Given the description of an element on the screen output the (x, y) to click on. 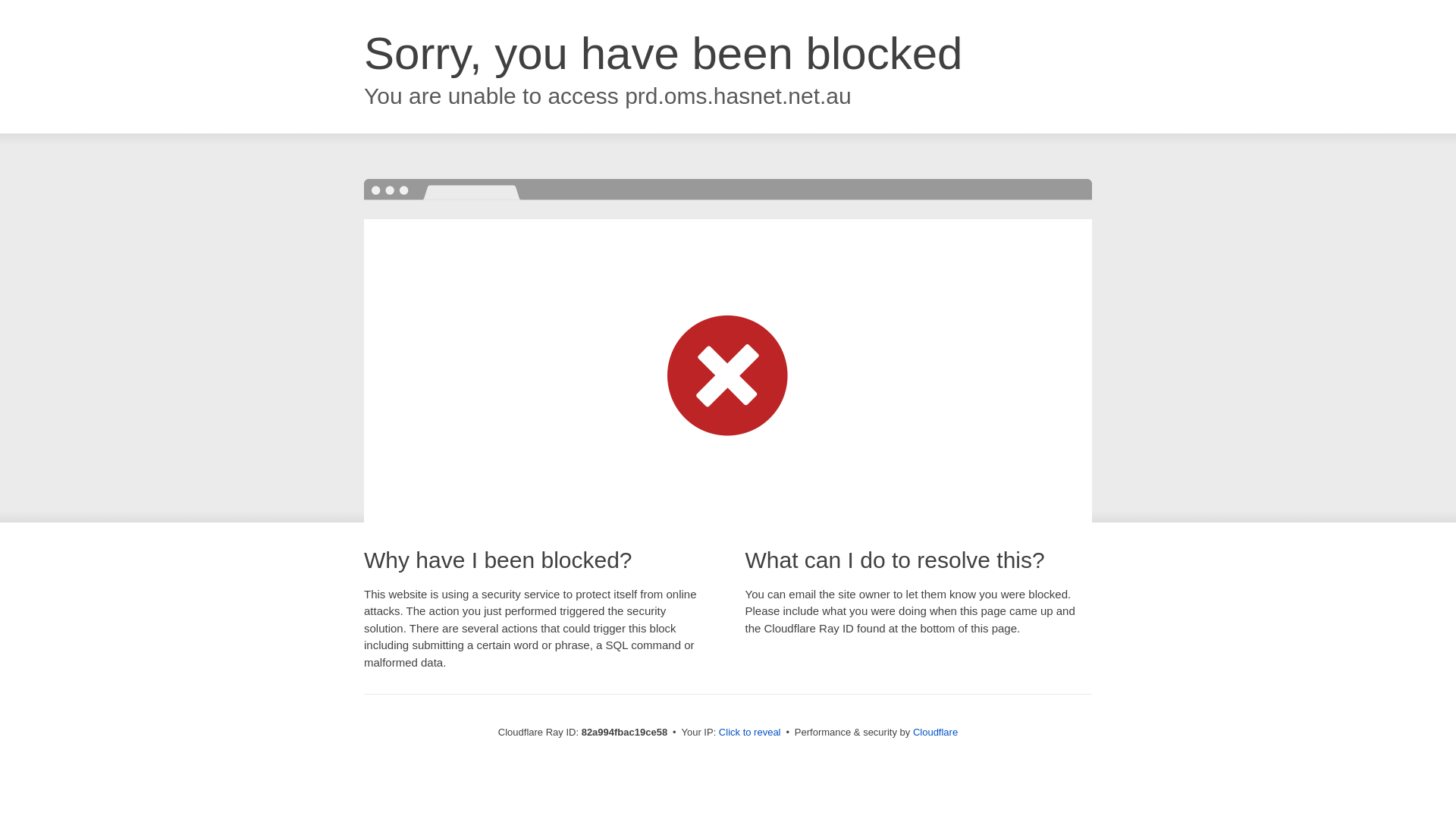
Cloudflare Element type: text (935, 731)
Click to reveal Element type: text (749, 732)
